Given the description of an element on the screen output the (x, y) to click on. 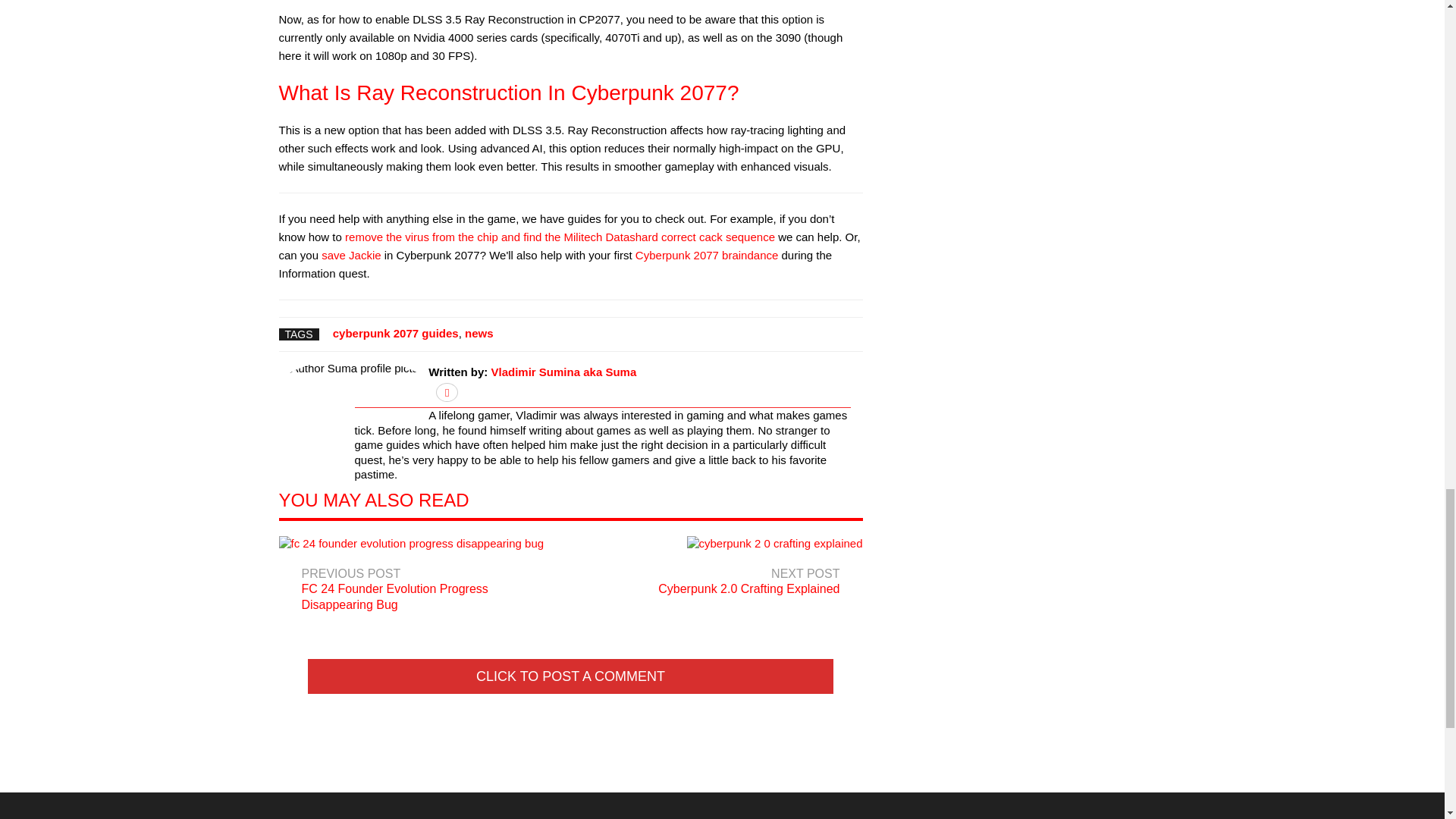
Cyberpunk 2077 braindance (705, 254)
Contact author (446, 391)
Vladimir Sumina aka Suma (719, 570)
cyberpunk 2077 guides (564, 371)
save Jackie (395, 332)
news (350, 254)
